Given the description of an element on the screen output the (x, y) to click on. 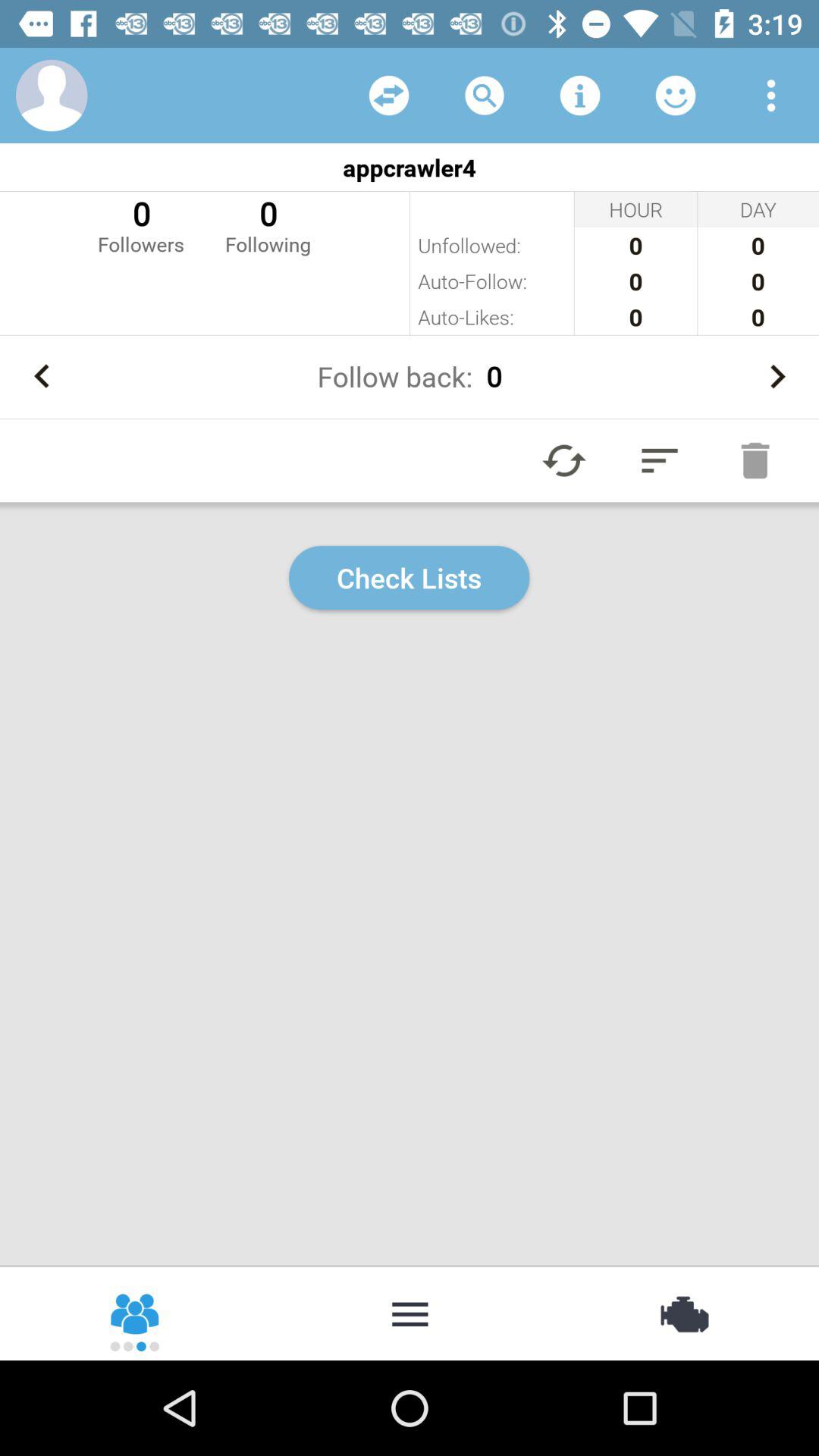
delete the list (755, 460)
